Given the description of an element on the screen output the (x, y) to click on. 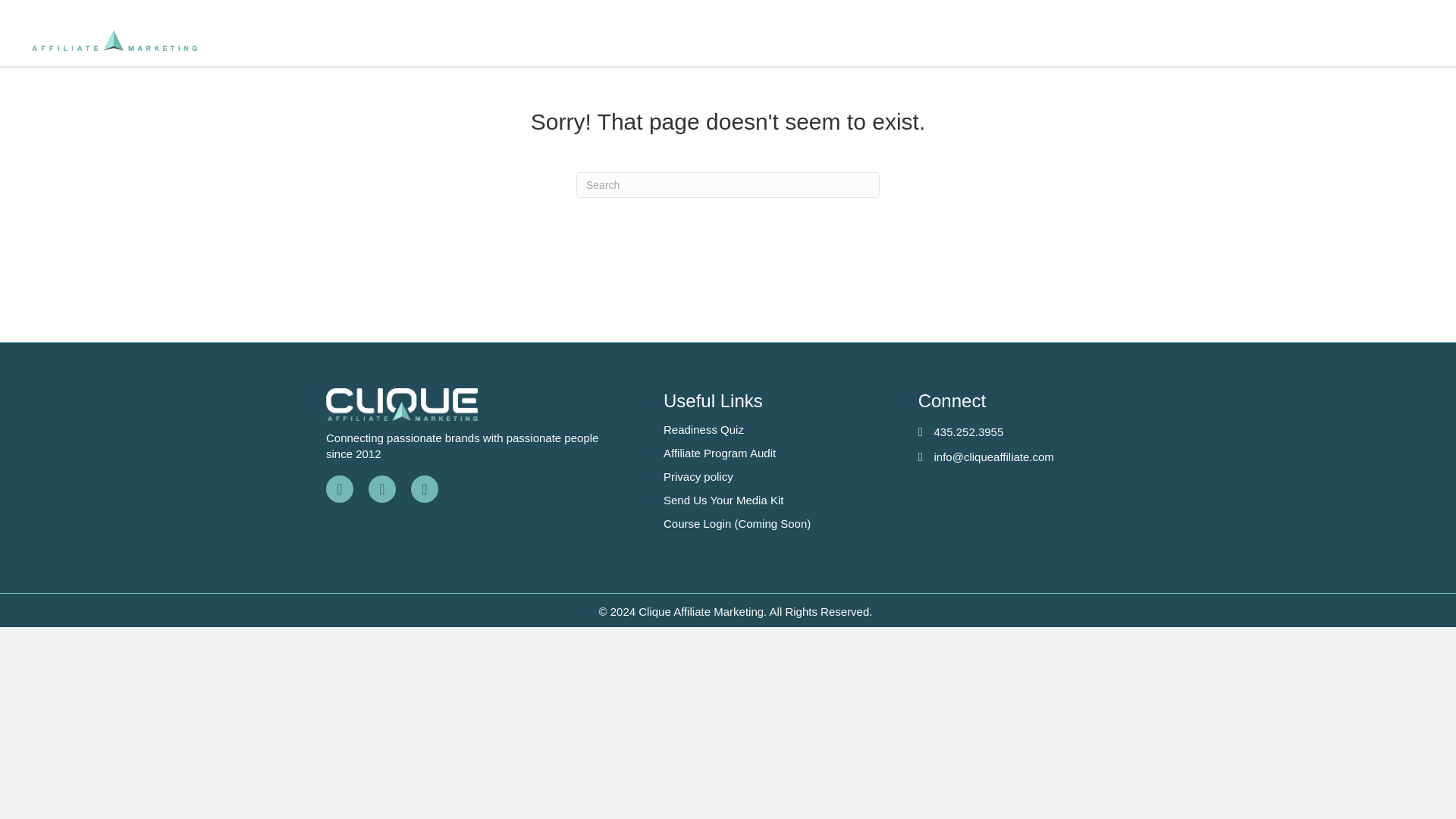
CONTACT (1377, 41)
Instagram (382, 488)
Type and press Enter to search. (727, 184)
facebook (339, 488)
CLIENTS (1280, 41)
Clique logo white2 (113, 32)
Clique logo white2 (401, 404)
RESOURCES (1091, 41)
SERVICES (970, 41)
LinkedIn (424, 488)
ABOUT (1193, 41)
